Given the description of an element on the screen output the (x, y) to click on. 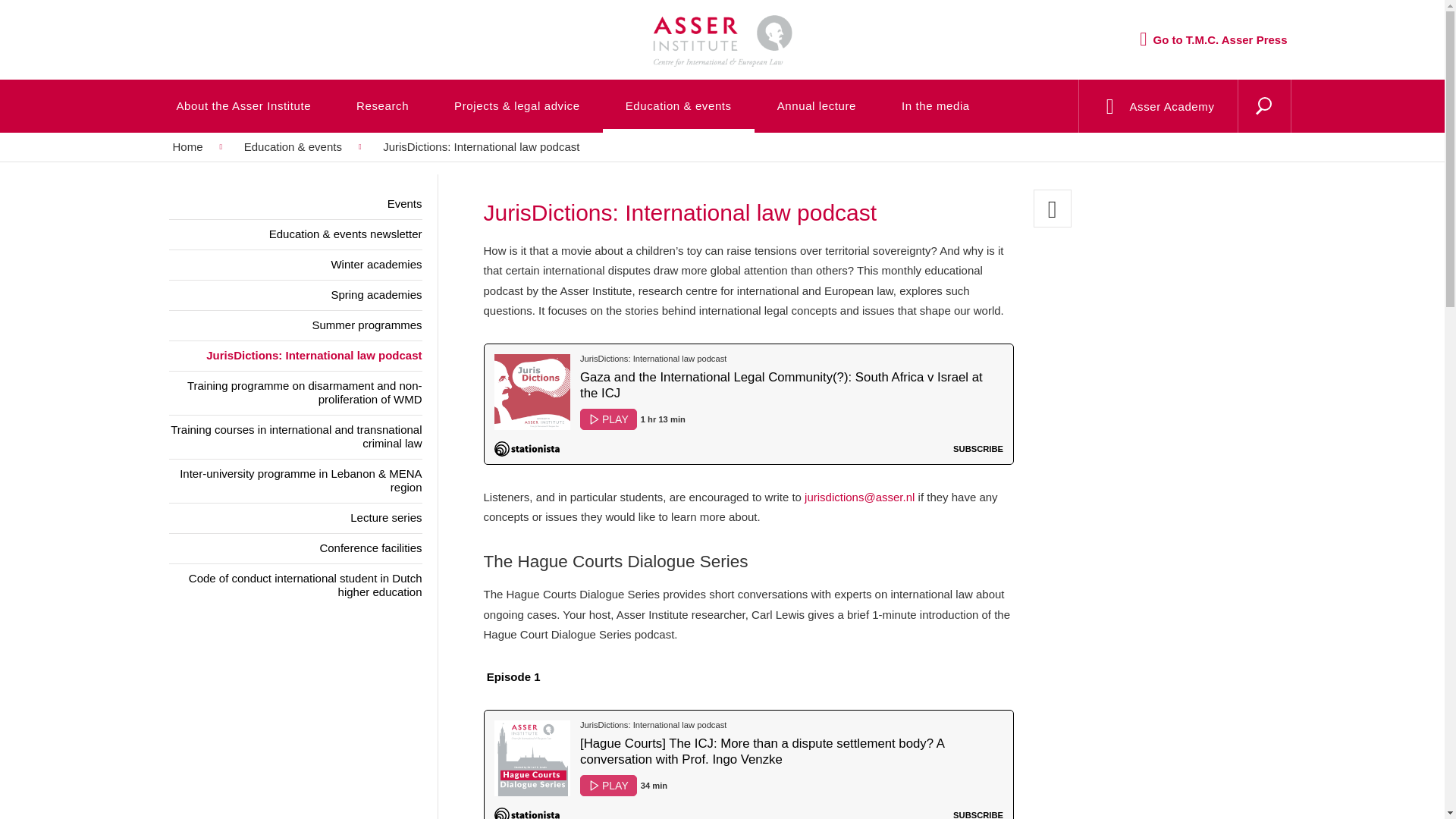
About the Asser Institute (242, 105)
Search (1227, 125)
Search (1227, 125)
Go to T.M.C. Asser Press (1213, 38)
Go back to T.M.C. Asser Instituut Homepage (721, 27)
